Given the description of an element on the screen output the (x, y) to click on. 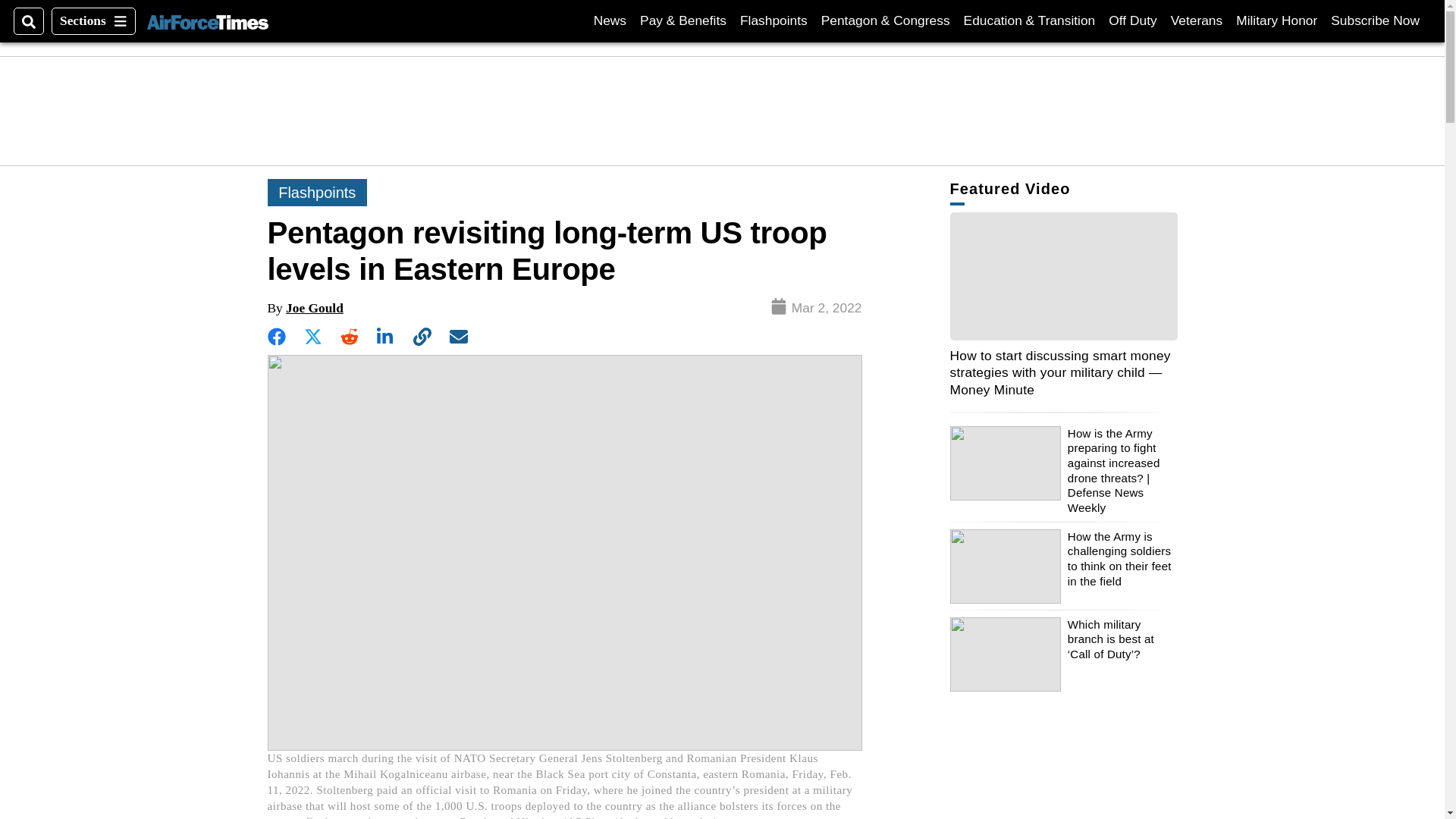
Military Honor (1276, 20)
News (610, 20)
Veterans (1374, 20)
Off Duty (1196, 20)
Flashpoints (1132, 20)
Sections (773, 20)
Air Force Times Logo (92, 21)
